Given the description of an element on the screen output the (x, y) to click on. 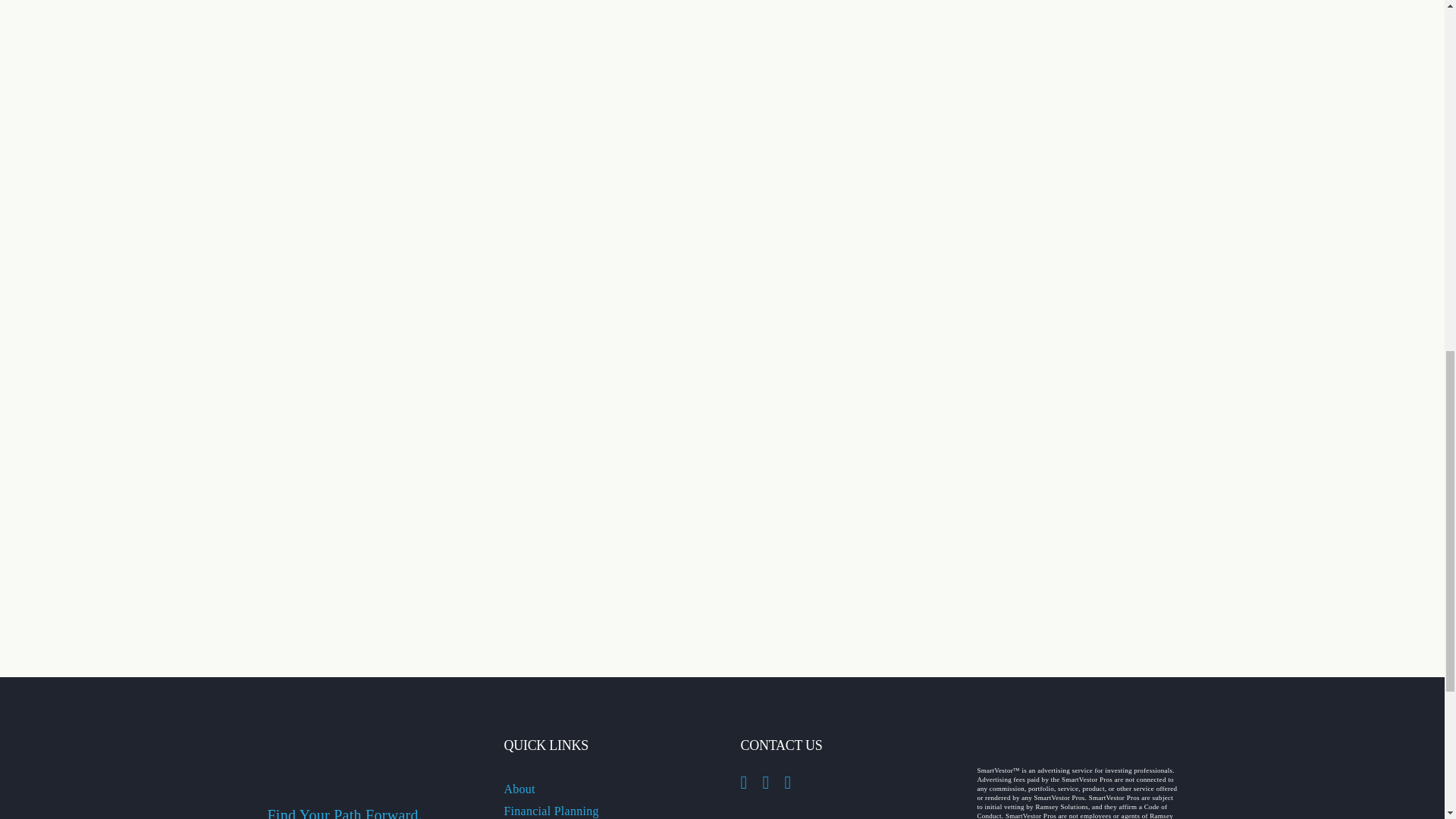
Financial Planning (550, 810)
About (518, 788)
dwpim-logo (366, 746)
smartvestor-logo (1071, 744)
